Given the description of an element on the screen output the (x, y) to click on. 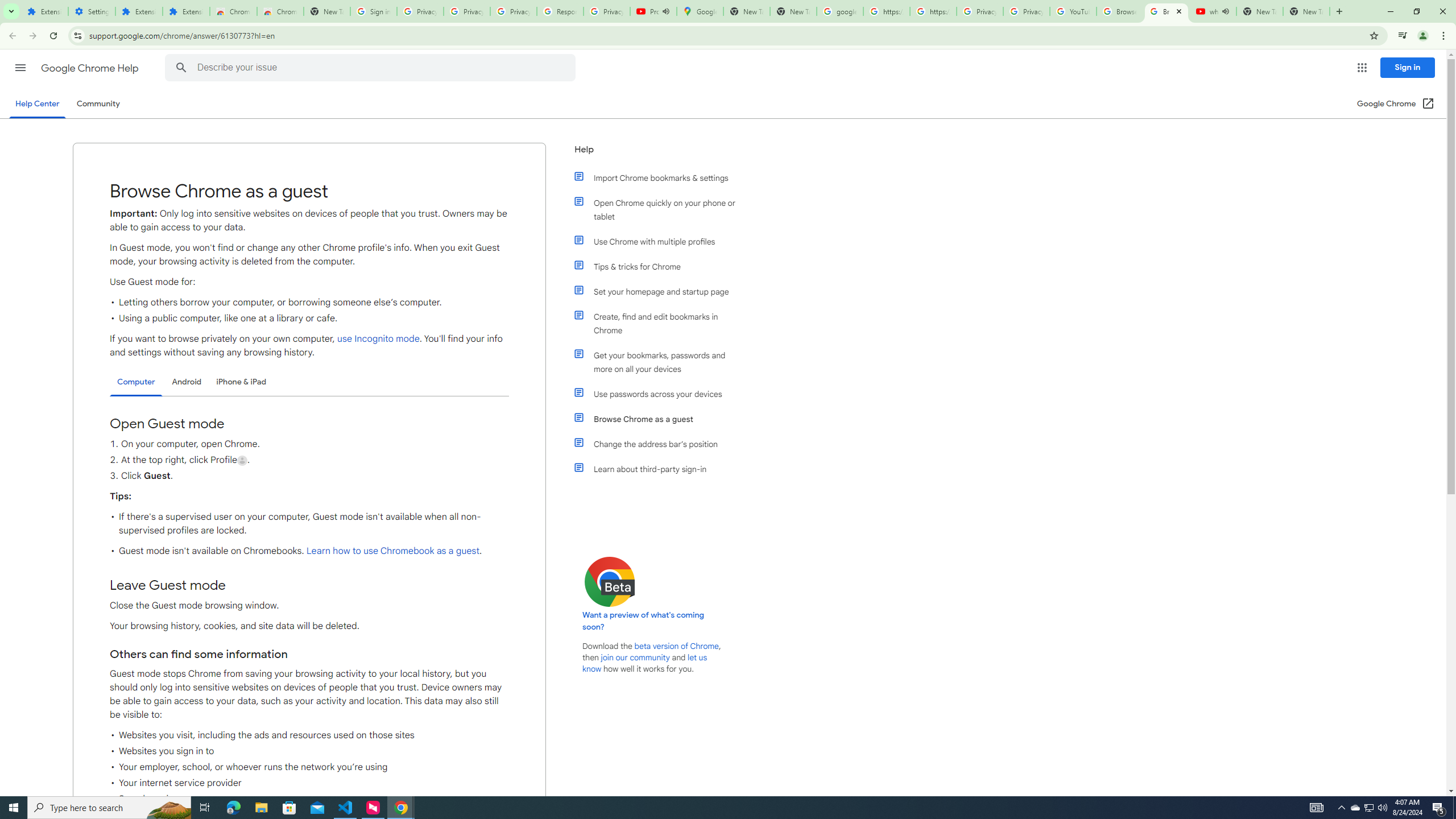
iPhone & iPad (240, 381)
Browse Chrome as a guest (661, 419)
Tips & tricks for Chrome (661, 266)
Google Chrome (Open in a new window) (1395, 103)
Chrome Web Store (233, 11)
Set your homepage and startup page (661, 291)
let us know (644, 663)
New Tab (1306, 11)
Import Chrome bookmarks & settings (661, 177)
